Given the description of an element on the screen output the (x, y) to click on. 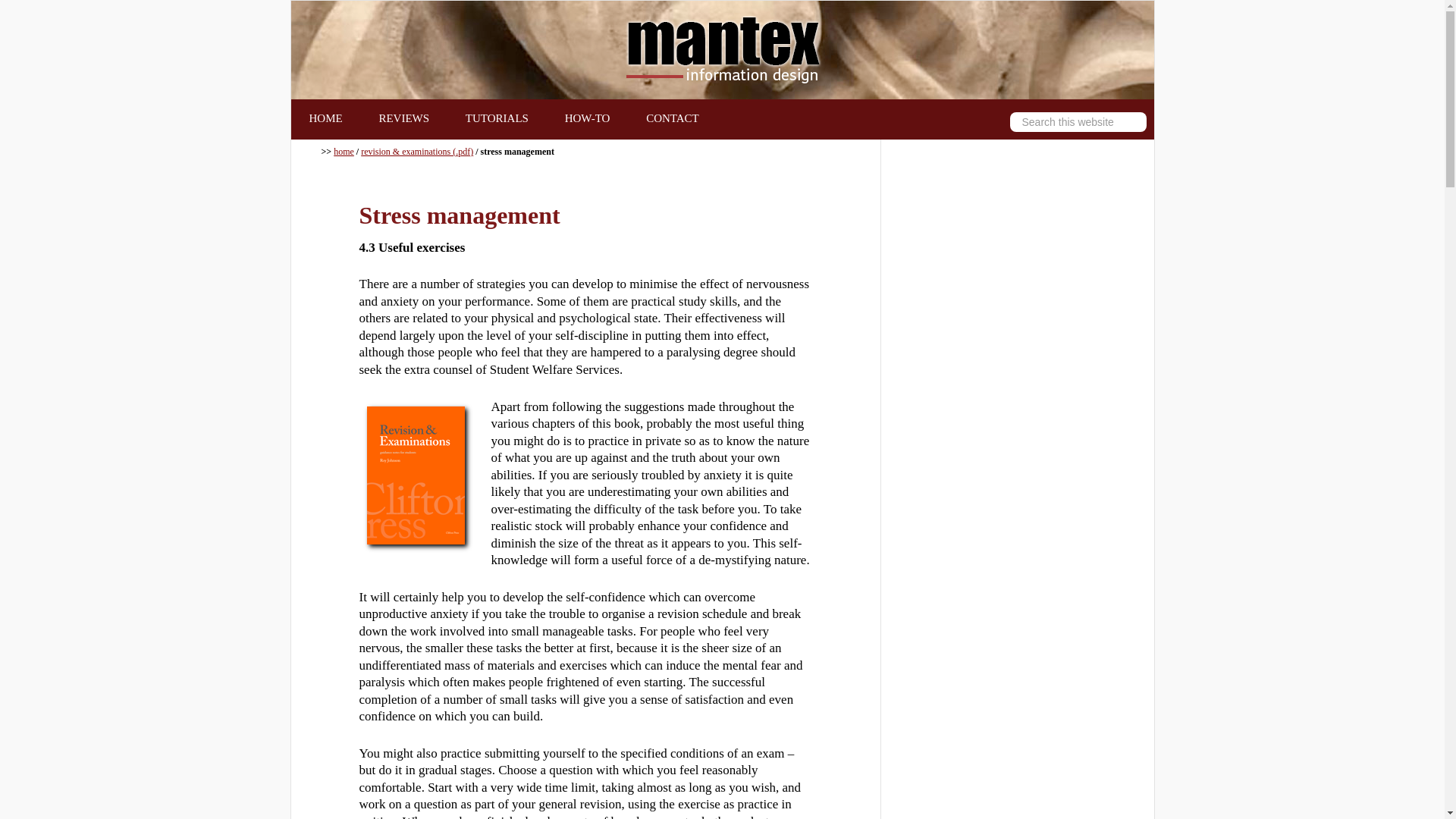
TUTORIALS (496, 118)
HOME (326, 118)
HOW-TO (587, 118)
REVIEWS (402, 118)
CONTACT (672, 118)
MANTEX (722, 49)
home (343, 151)
